Given the description of an element on the screen output the (x, y) to click on. 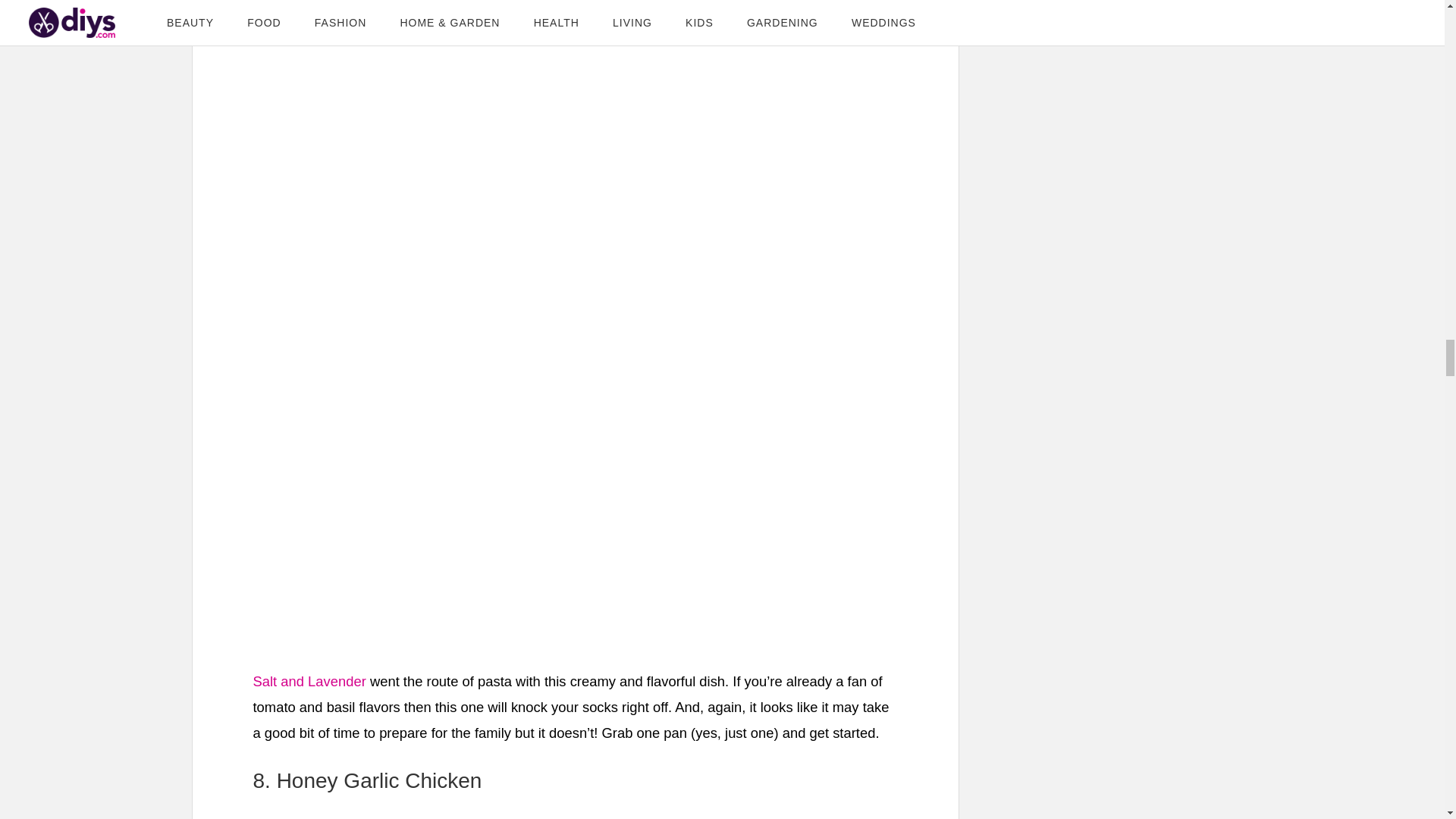
Salt and Lavender (309, 681)
